Given the description of an element on the screen output the (x, y) to click on. 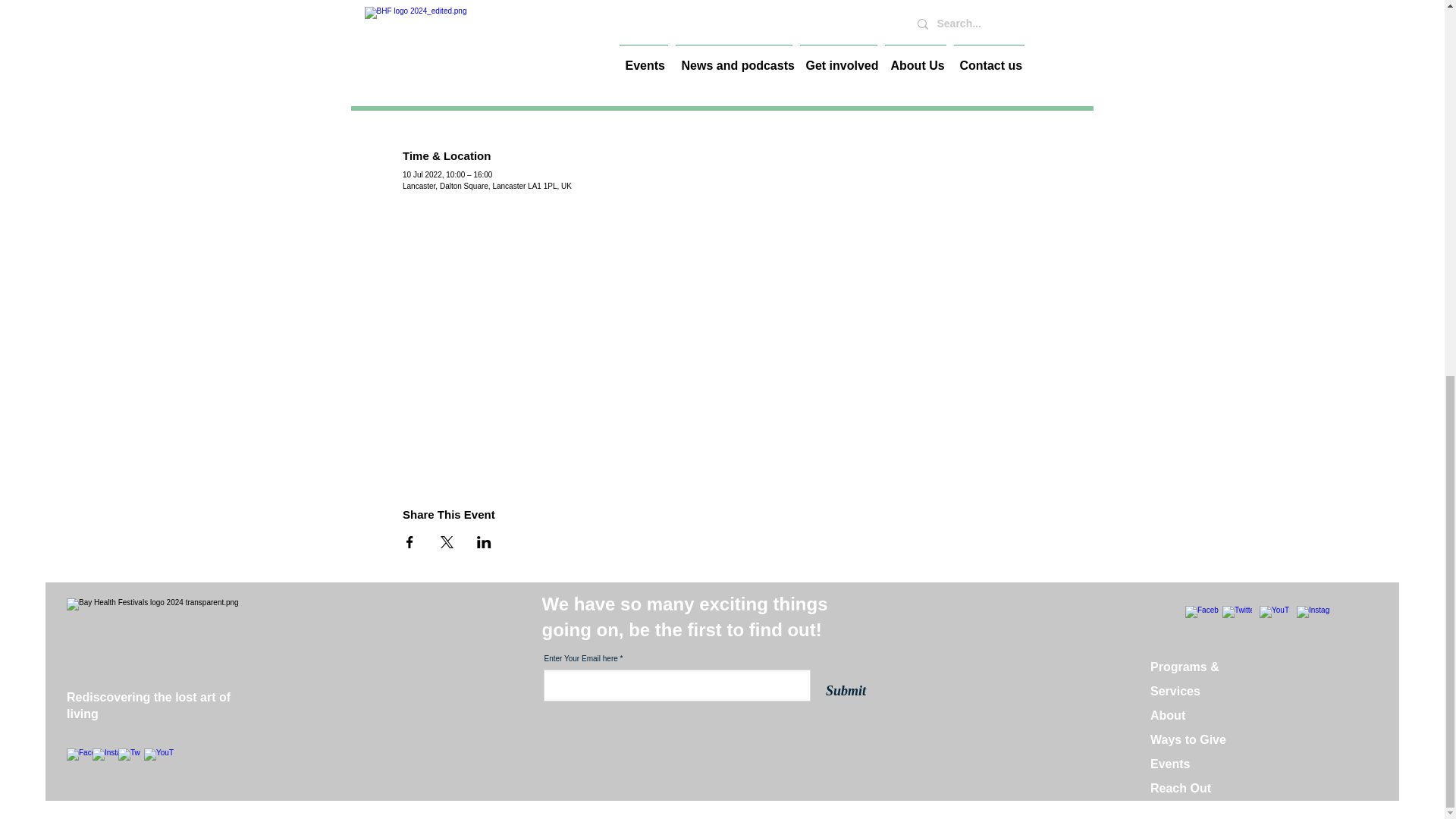
Reach Out (1180, 788)
Submit (844, 690)
Ways to Give (1187, 739)
Events (1169, 763)
About (1167, 715)
